Given the description of an element on the screen output the (x, y) to click on. 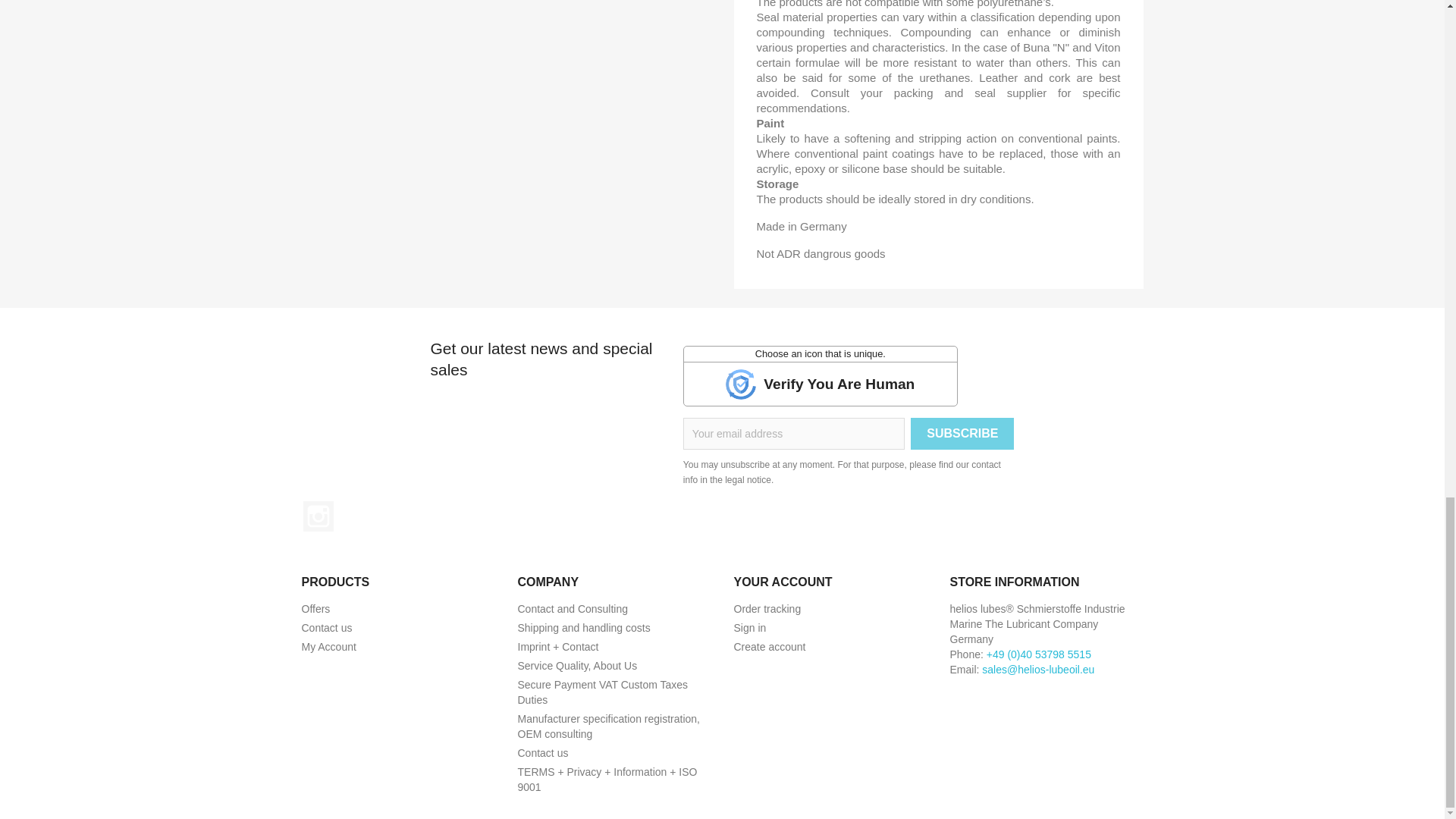
Shipping and handling costs, cancelation fees (582, 627)
Log in to your customer account (750, 627)
Manufacturer specification registration, OEM consulting (607, 726)
Service Quality, About Us (576, 665)
Lubricant Contact and Consulting (571, 608)
Subscribe (962, 433)
Use our contact form (326, 627)
Use our contact form (541, 752)
Price Drops (315, 608)
Order tracking (767, 608)
